Given the description of an element on the screen output the (x, y) to click on. 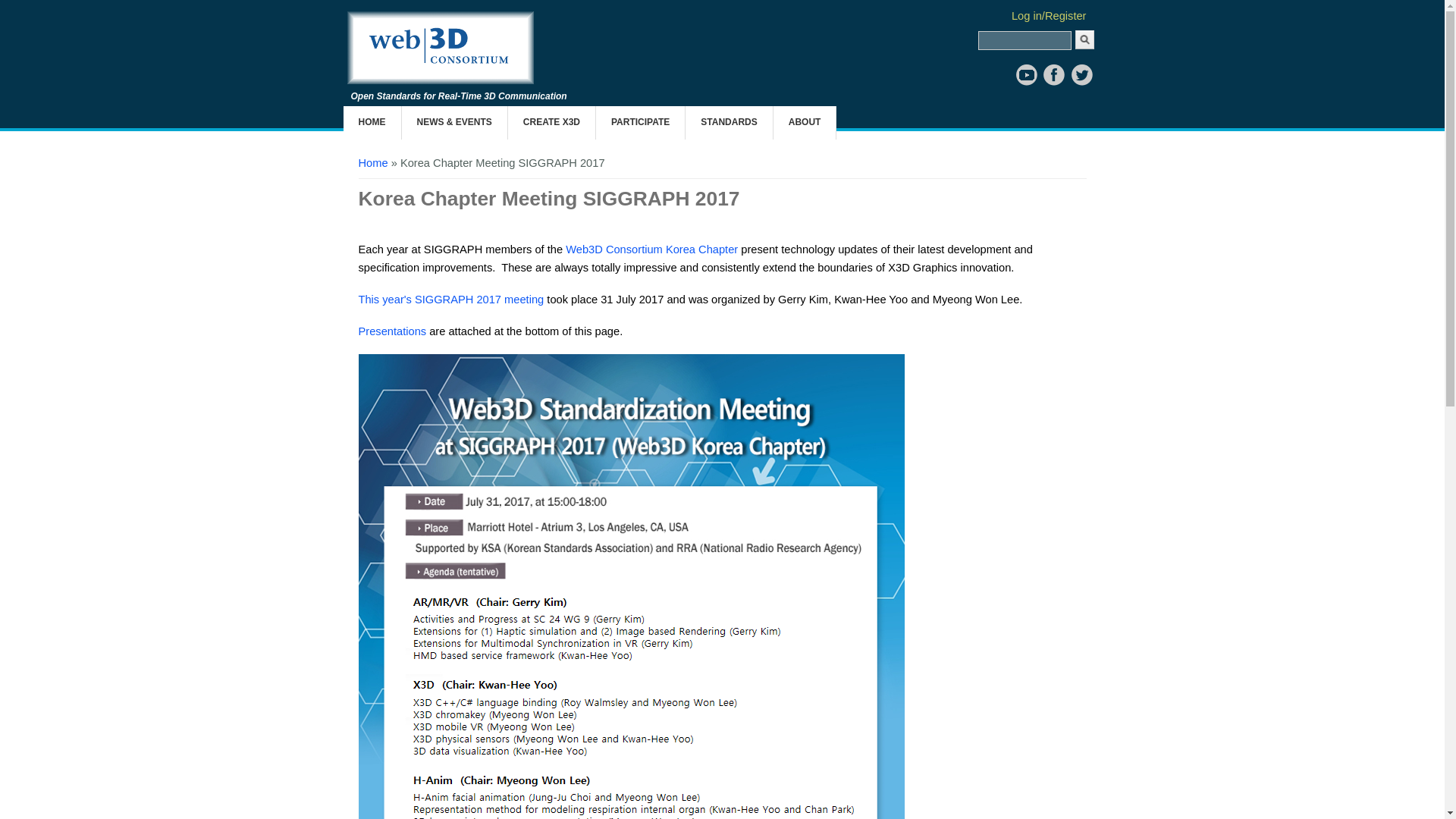
CREATE X3D (551, 122)
Home (440, 80)
HOME (371, 122)
Learn about X3D - how to start, how to use, how to promote (551, 122)
Current news and upcoming events with Web3D Consortium (453, 122)
YouTube (1026, 74)
Twitter (1080, 74)
Search (1084, 39)
Facebook (1053, 74)
Search (1084, 39)
PARTICIPATE (639, 122)
Enter the terms you wish to search for. (1024, 40)
